Given the description of an element on the screen output the (x, y) to click on. 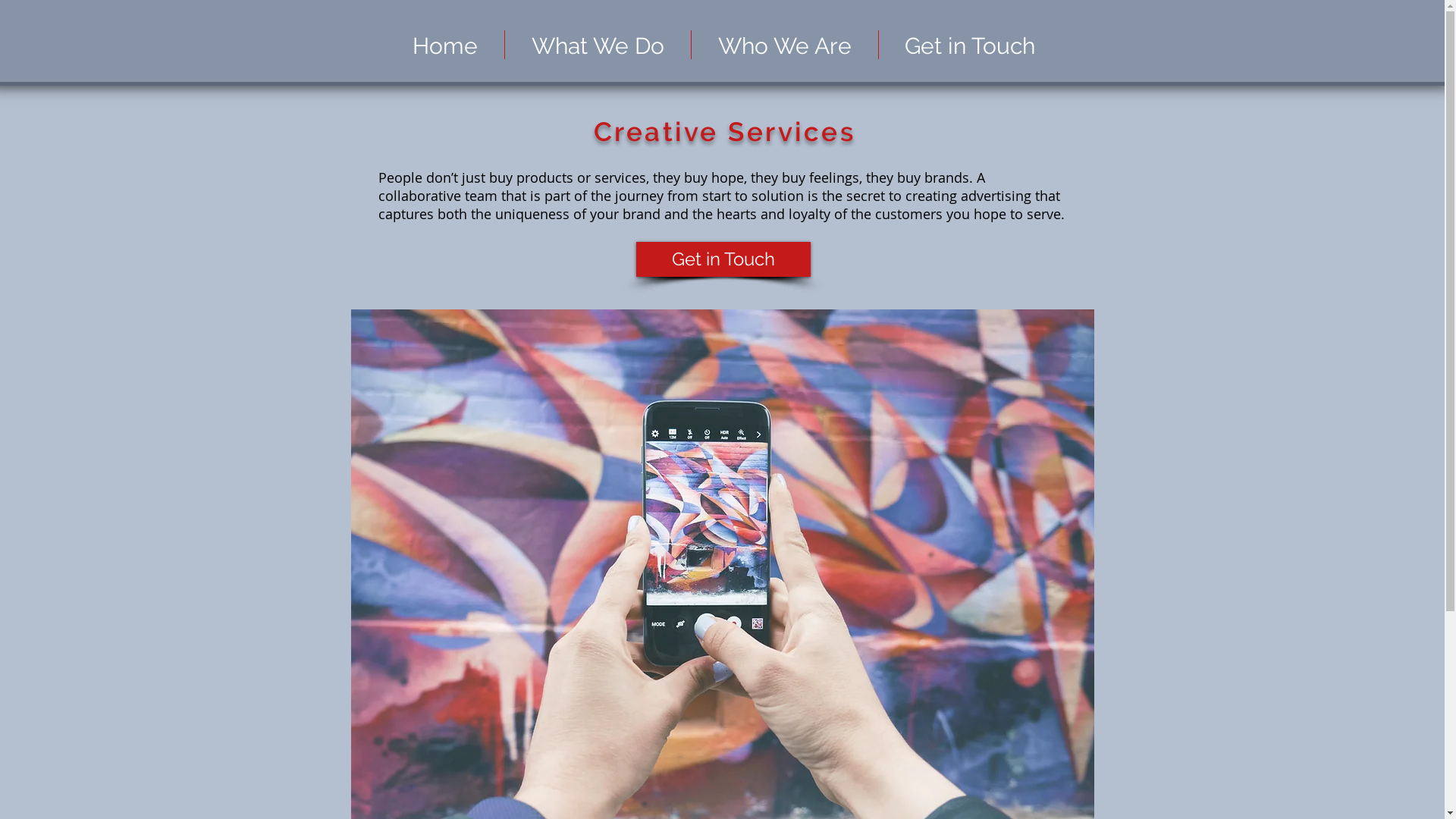
Who We Are Element type: text (784, 44)
What We Do Element type: text (597, 44)
Get in Touch Element type: text (969, 44)
Get in Touch Element type: text (722, 258)
Home Element type: text (444, 44)
